Given the description of an element on the screen output the (x, y) to click on. 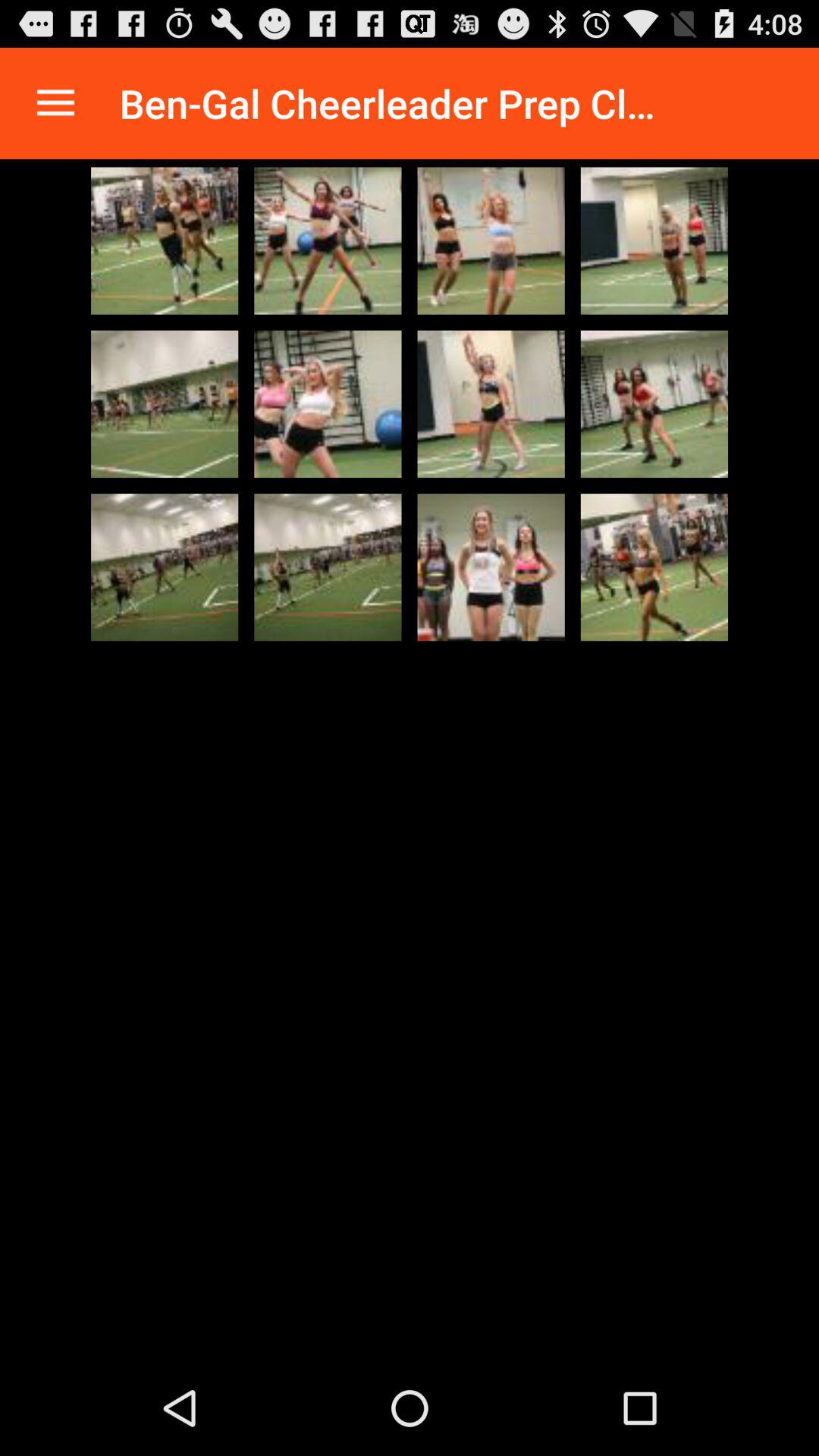
watch video full screen (654, 240)
